Given the description of an element on the screen output the (x, y) to click on. 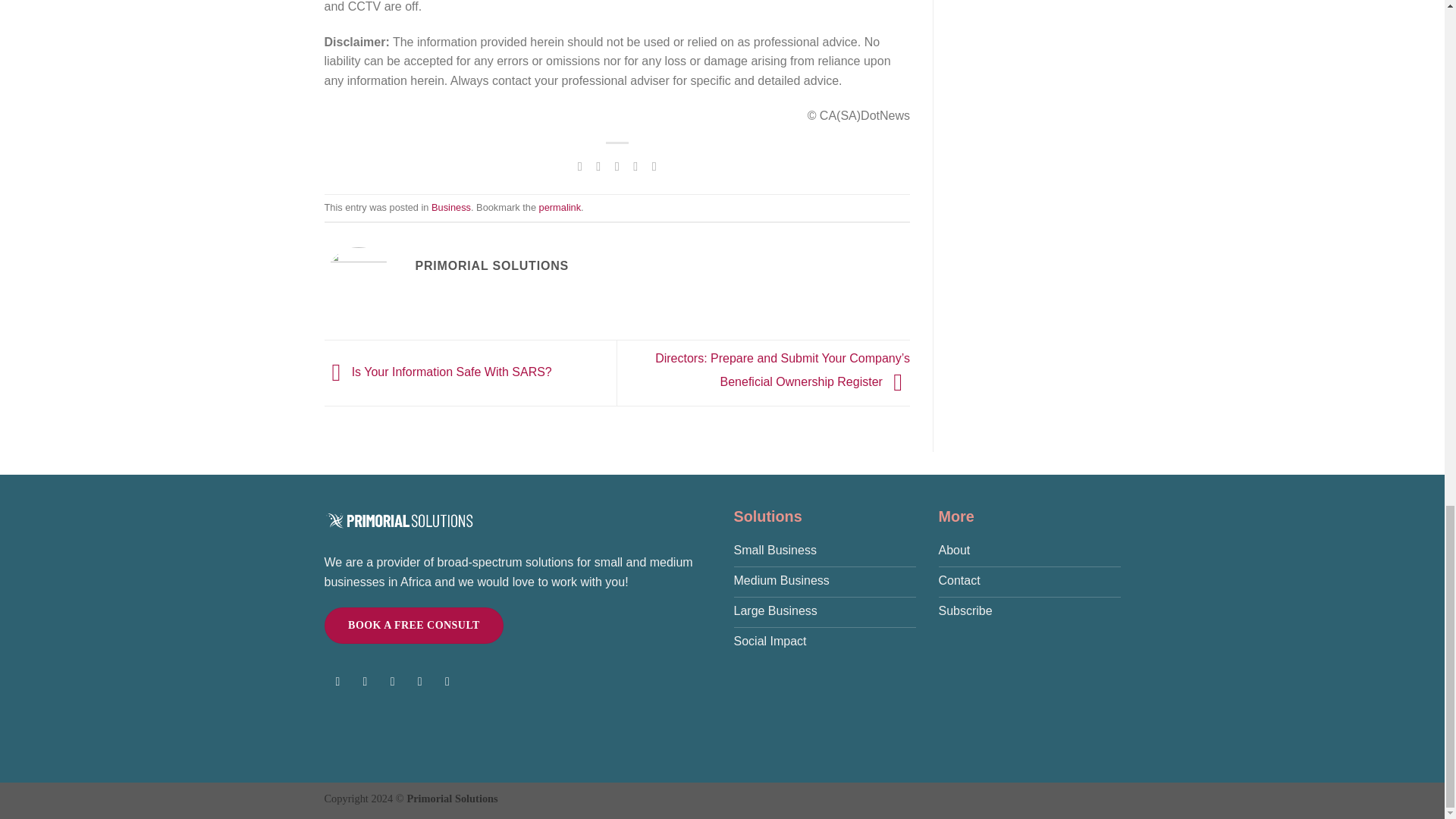
Follow on LinkedIn (419, 683)
Follow on Instagram (364, 683)
Follow on YouTube (447, 683)
Share on LinkedIn (654, 165)
Follow on Twitter (392, 683)
Business (450, 206)
Is Your Information Safe With SARS? (437, 371)
Follow on Facebook (337, 683)
permalink (559, 206)
